Given the description of an element on the screen output the (x, y) to click on. 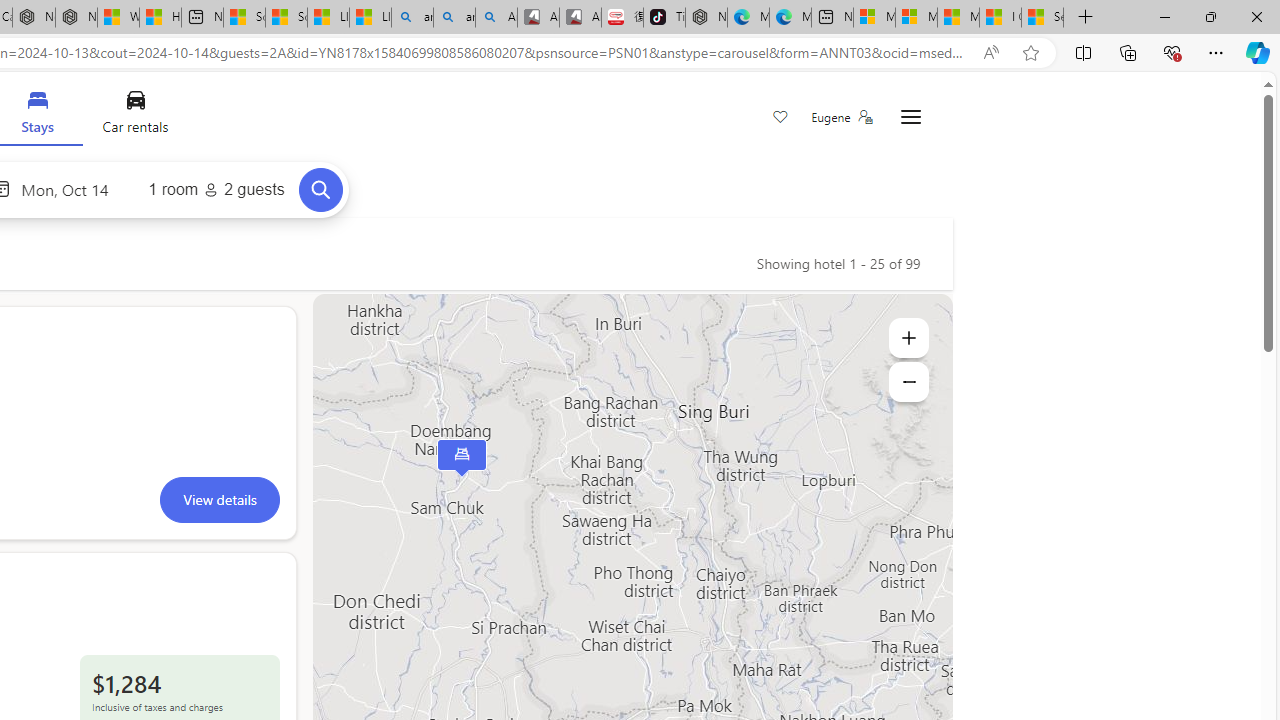
End date (70, 188)
Zoom in (908, 337)
View details (219, 499)
1 room2 guests (216, 190)
